Given the description of an element on the screen output the (x, y) to click on. 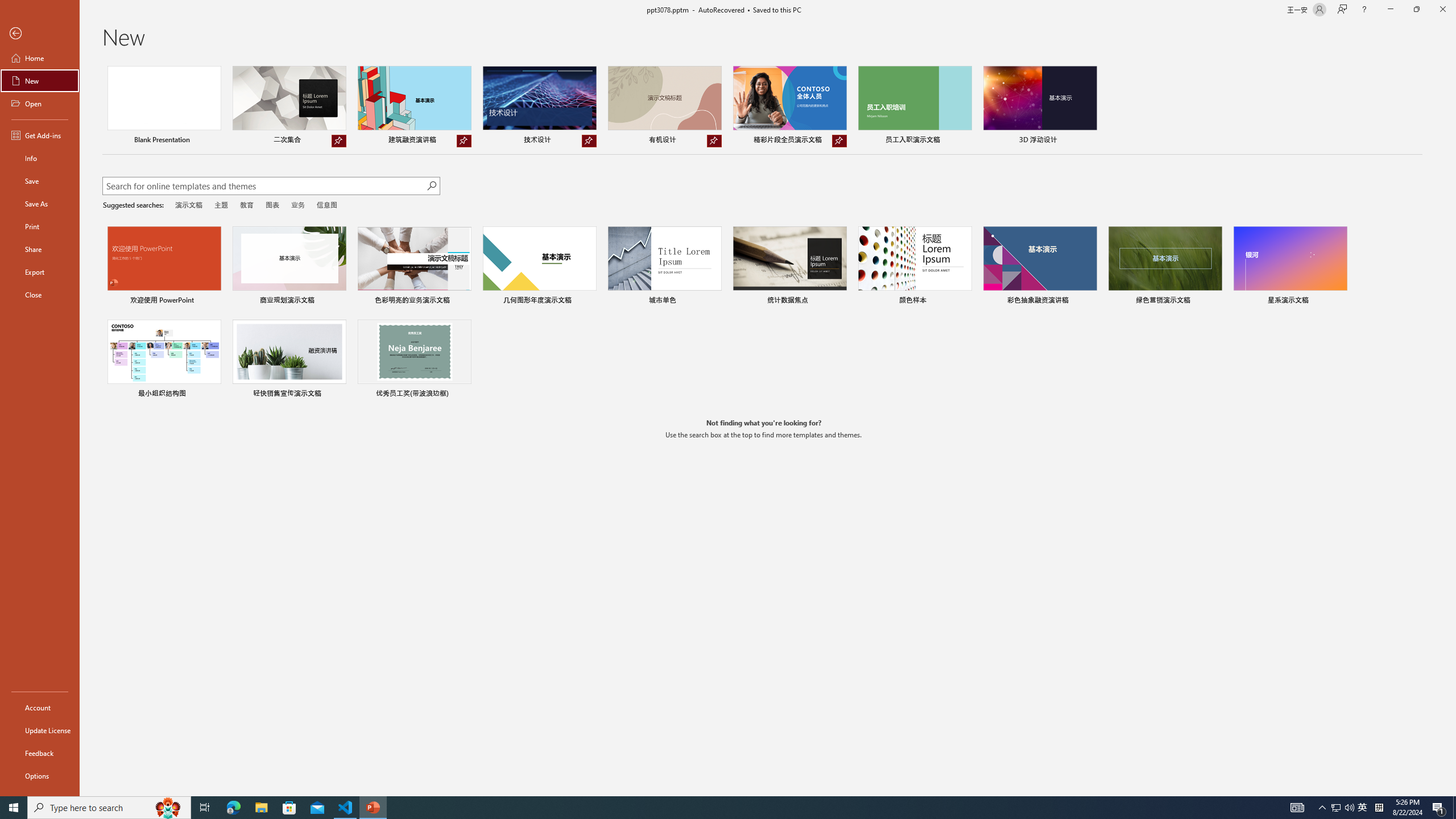
Pin to list (464, 394)
Account (40, 707)
Search for online templates and themes (264, 187)
Options (40, 775)
